Given the description of an element on the screen output the (x, y) to click on. 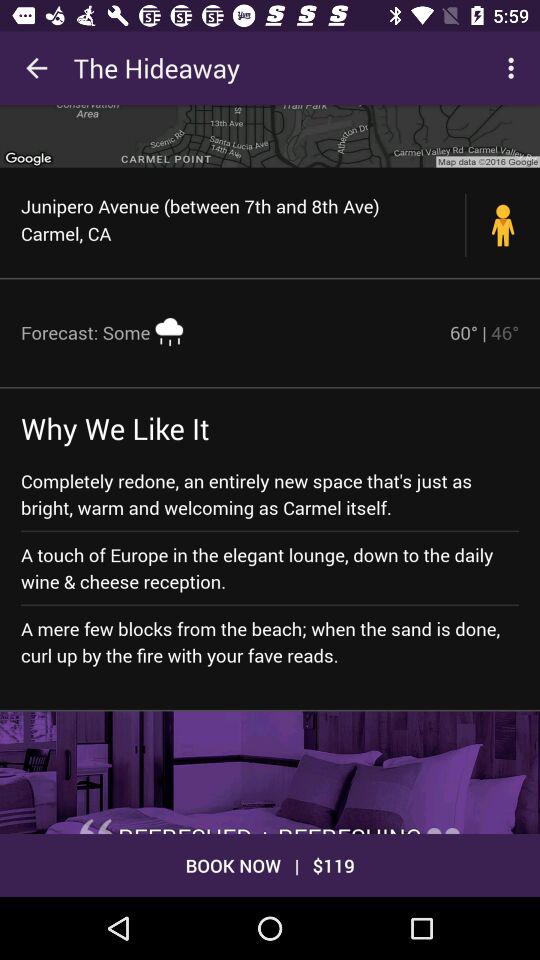
choose the icon next to the hideaway item (36, 68)
